Given the description of an element on the screen output the (x, y) to click on. 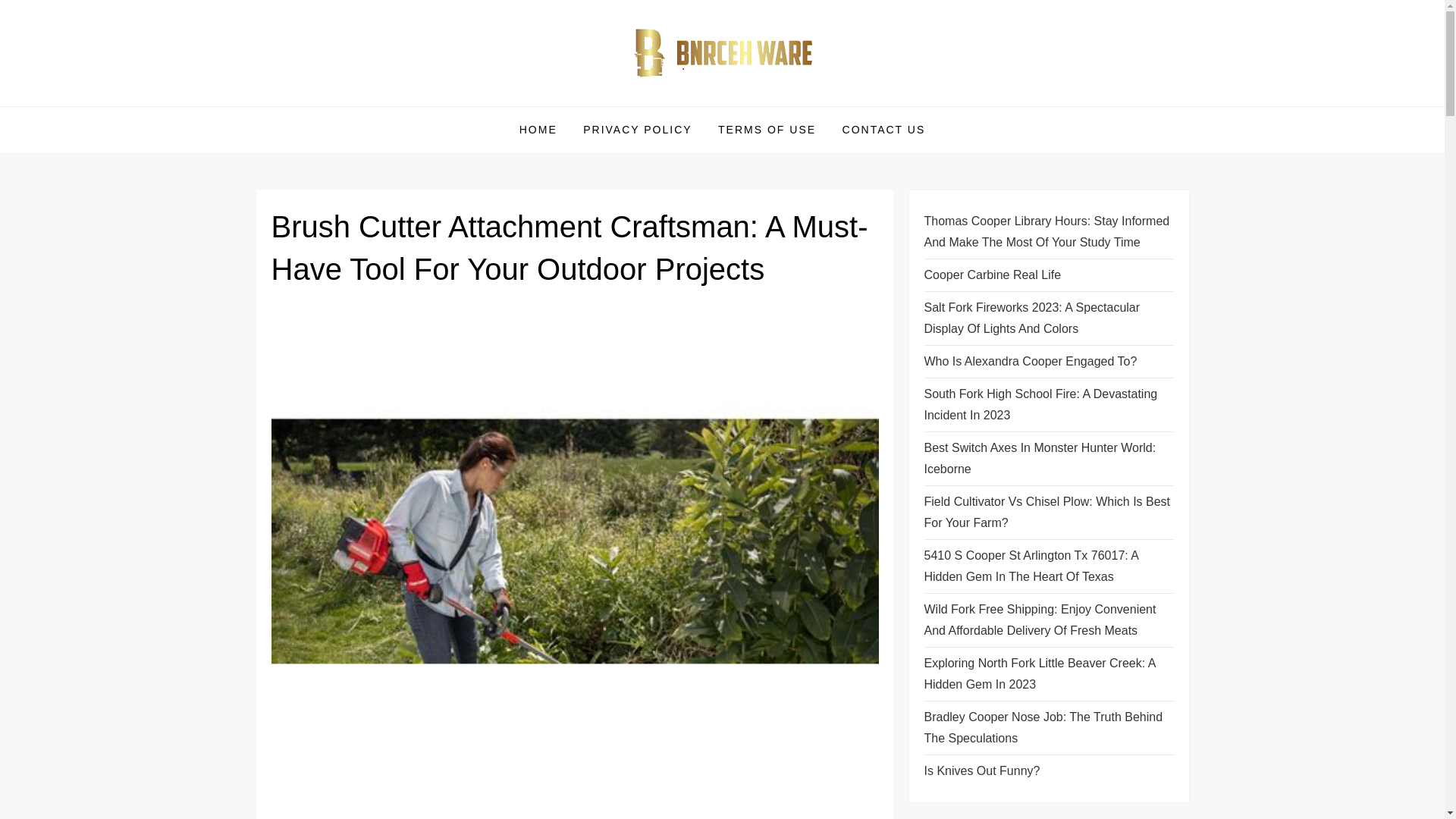
TERMS OF USE (766, 129)
South Fork High School Fire: A Devastating Incident In 2023 (1048, 404)
Best Switch Axes In Monster Hunter World: Iceborne (1048, 458)
Who Is Alexandra Cooper Engaged To? (1030, 361)
Is Knives Out Funny? (981, 771)
HOME (538, 129)
